Given the description of an element on the screen output the (x, y) to click on. 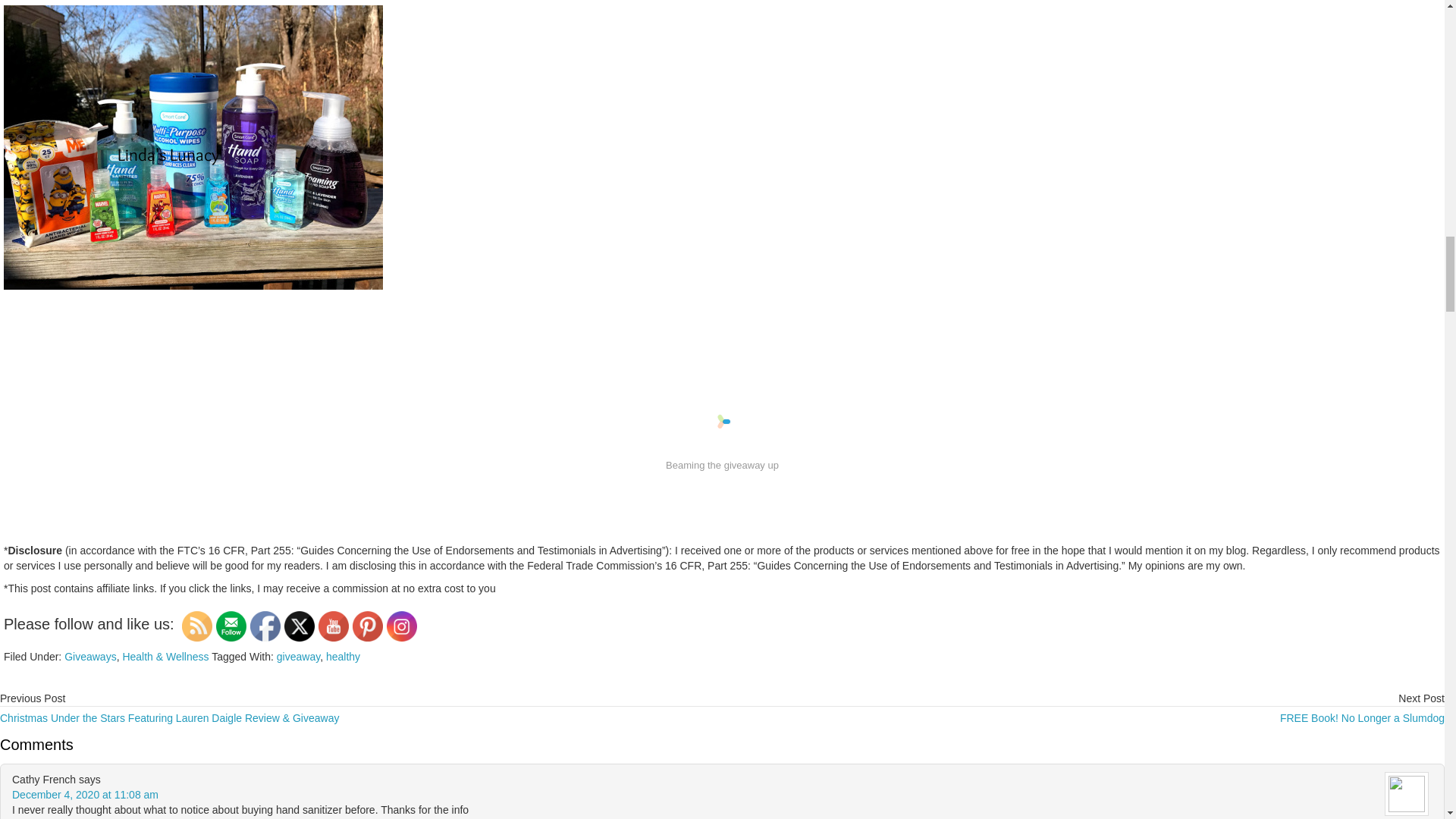
healthy (342, 656)
Giveaways (90, 656)
Instagram (401, 625)
Facebook (265, 625)
RSS (197, 625)
December 4, 2020 at 11:08 am (84, 794)
Follow by Email (230, 625)
giveaway (298, 656)
Pinterest (367, 625)
Twitter (298, 625)
